Given the description of an element on the screen output the (x, y) to click on. 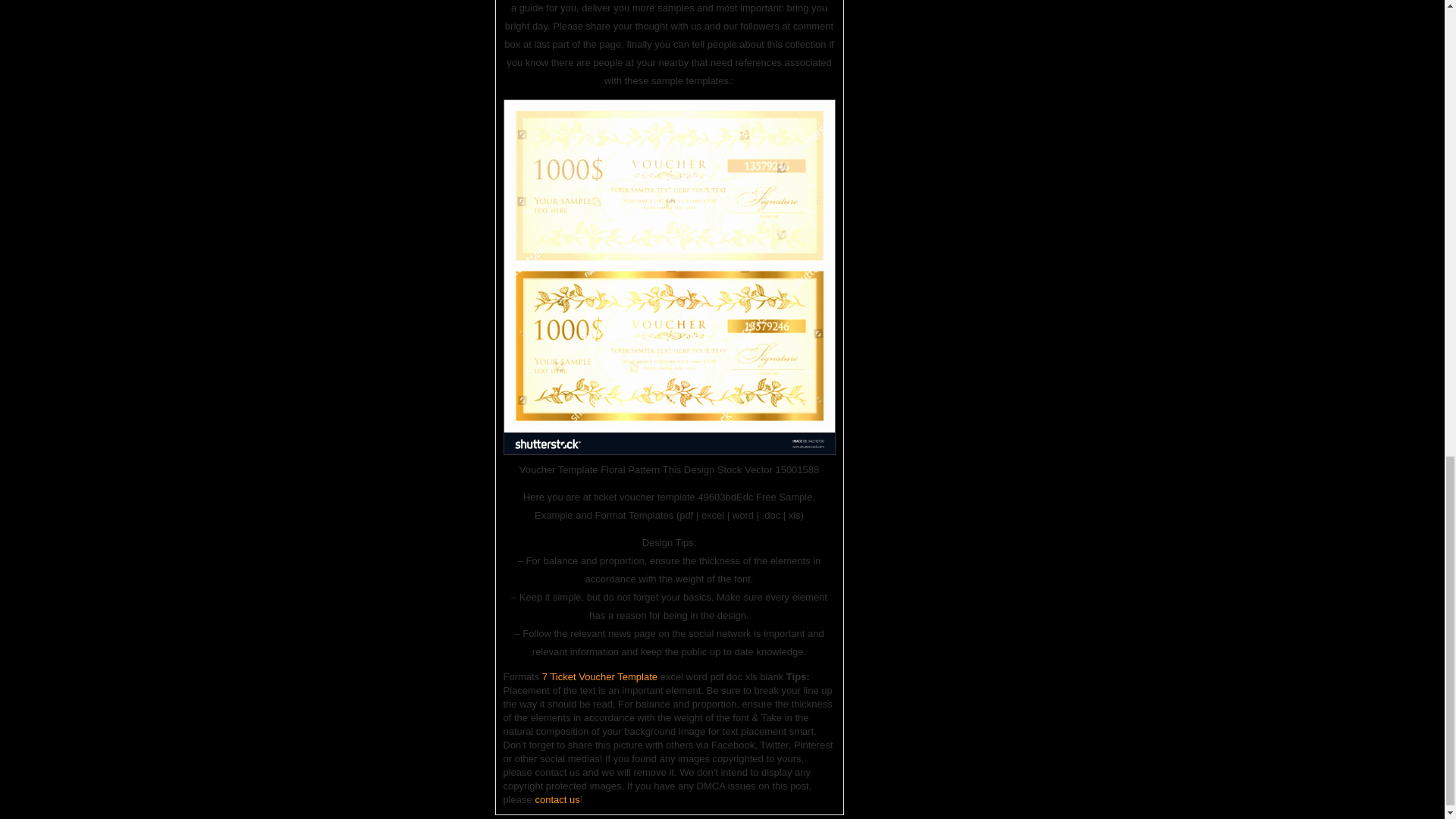
7 Ticket Voucher Template (599, 676)
contact us (556, 799)
